Given the description of an element on the screen output the (x, y) to click on. 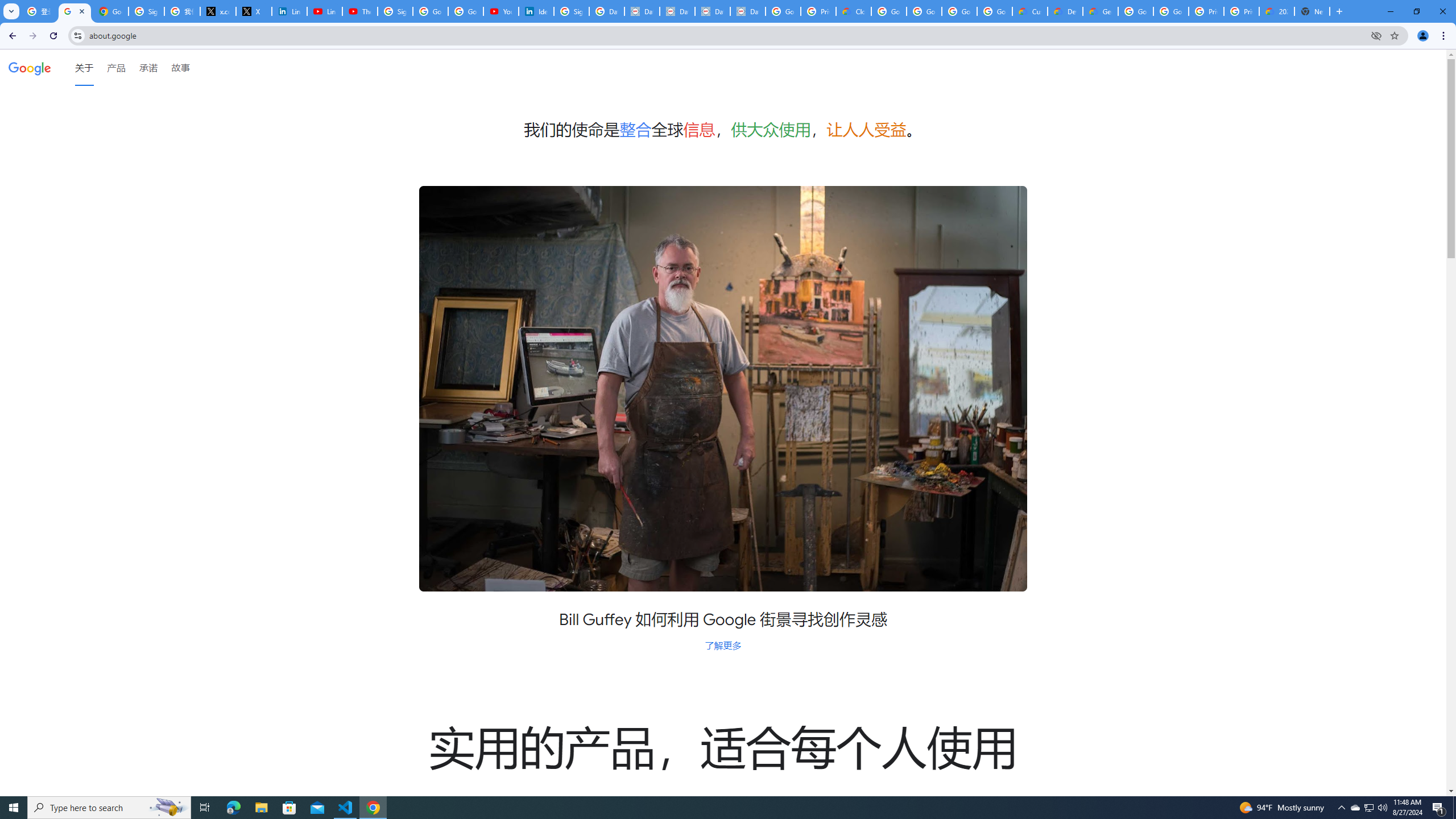
X (253, 11)
Identity verification via Persona | LinkedIn Help (536, 11)
Cloud Data Processing Addendum | Google Cloud (853, 11)
Data Privacy Framework (747, 11)
Google Workspace - Specific Terms (959, 11)
Google (29, 67)
